Given the description of an element on the screen output the (x, y) to click on. 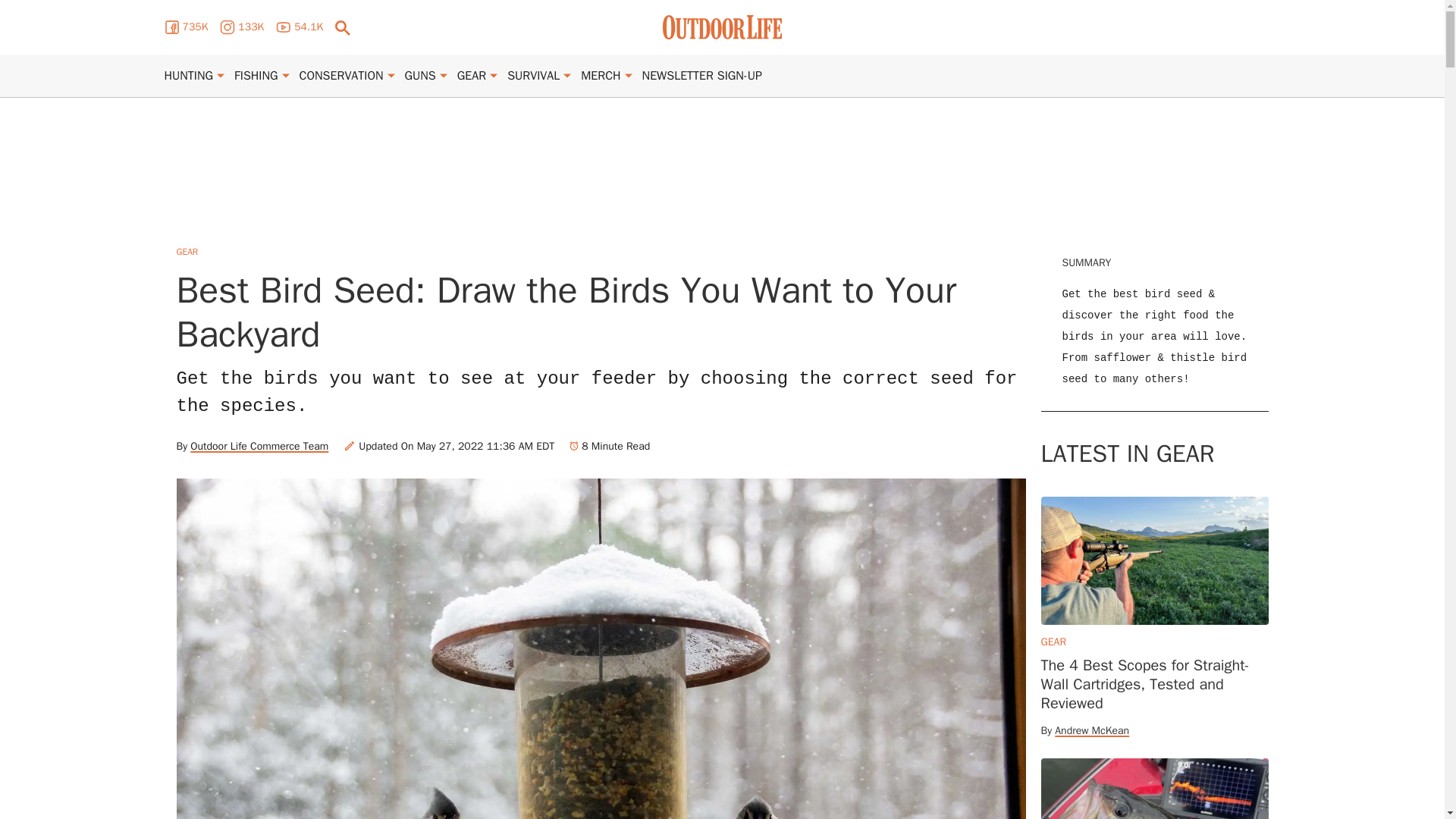
Fishing (256, 75)
Newsletter Sign-up (701, 75)
Hunting (187, 75)
Conservation (341, 75)
Survival (532, 75)
Guns (419, 75)
Merch (600, 75)
Gear (471, 75)
